Given the description of an element on the screen output the (x, y) to click on. 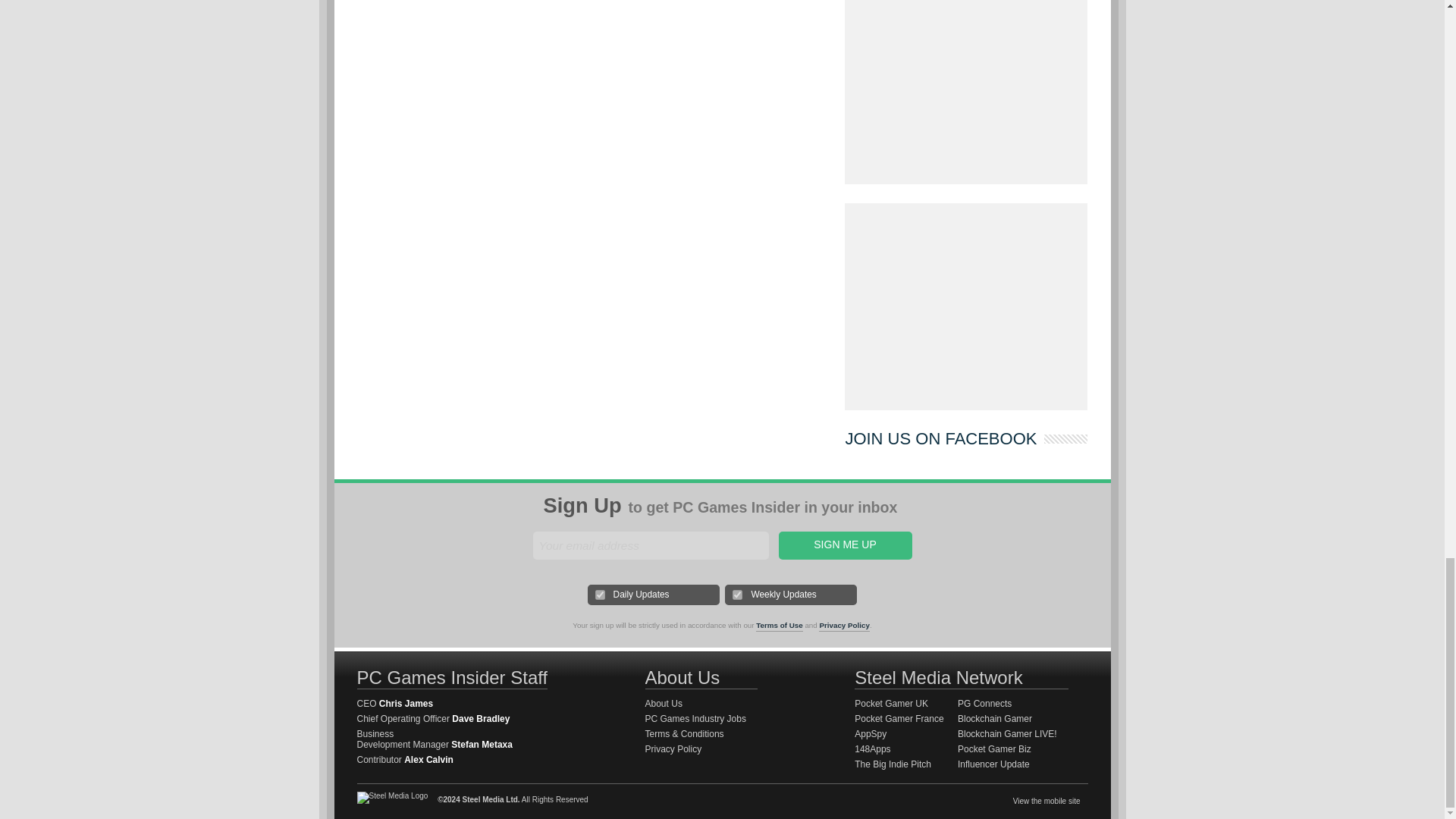
2 (737, 594)
SIGN ME UP (844, 545)
1 (600, 594)
